Given the description of an element on the screen output the (x, y) to click on. 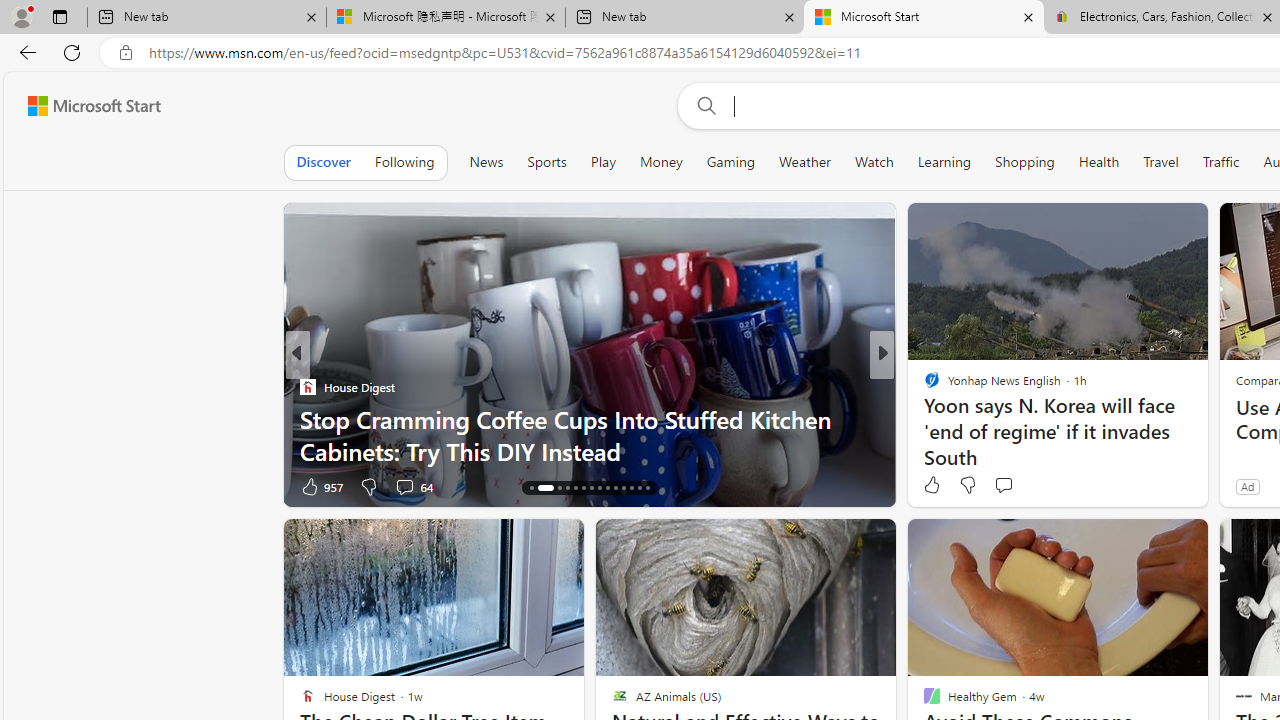
AutomationID: tab-24 (614, 487)
View comments 64 Comment (413, 486)
House Digest (923, 386)
Woman's World (923, 386)
View comments 13 Comment (1014, 485)
View comments 165 Comment (1019, 485)
115 Like (936, 486)
Newsweek (923, 386)
View comments 7 Comment (1019, 485)
